Given the description of an element on the screen output the (x, y) to click on. 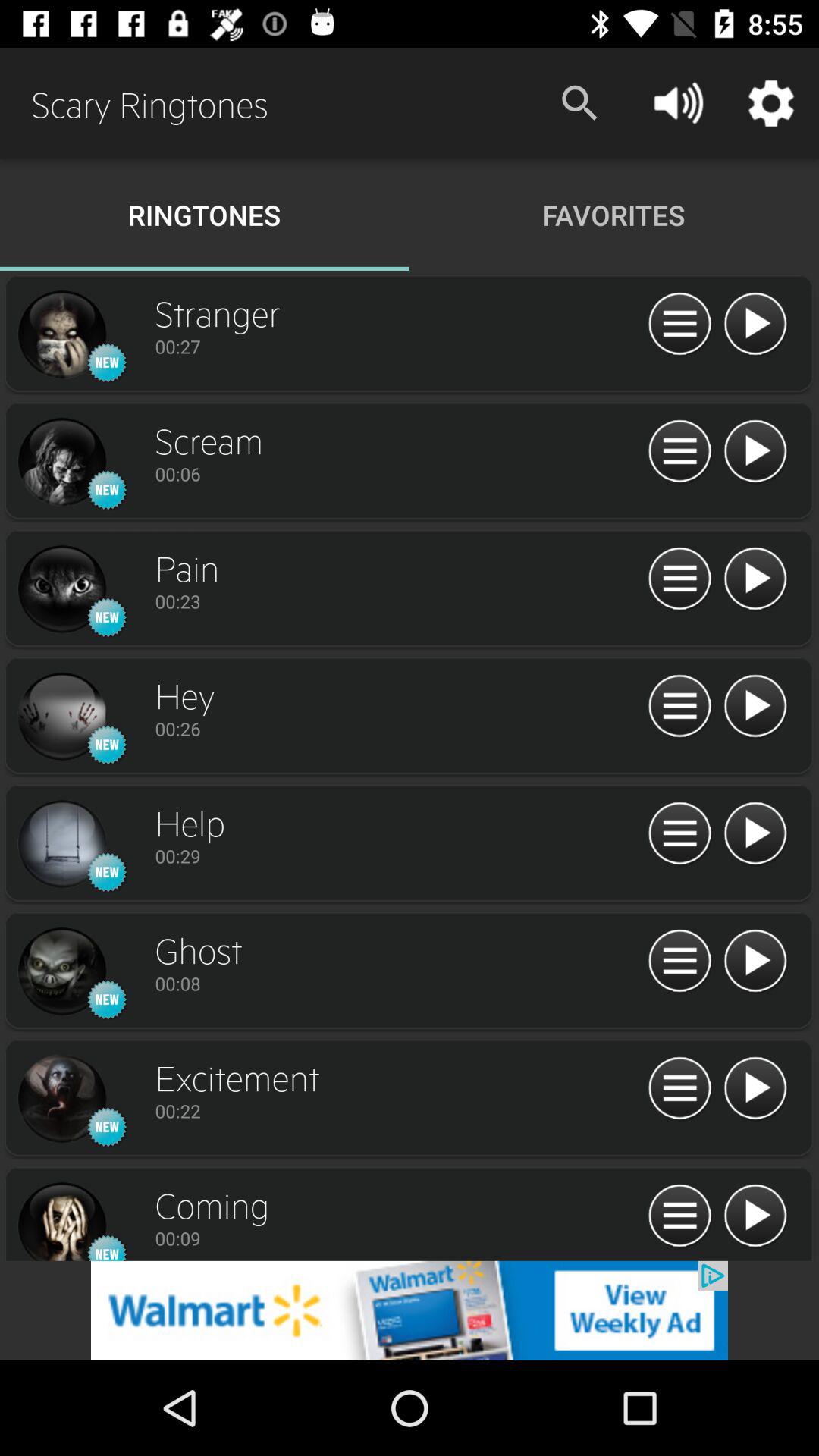
play the song (755, 324)
